Given the description of an element on the screen output the (x, y) to click on. 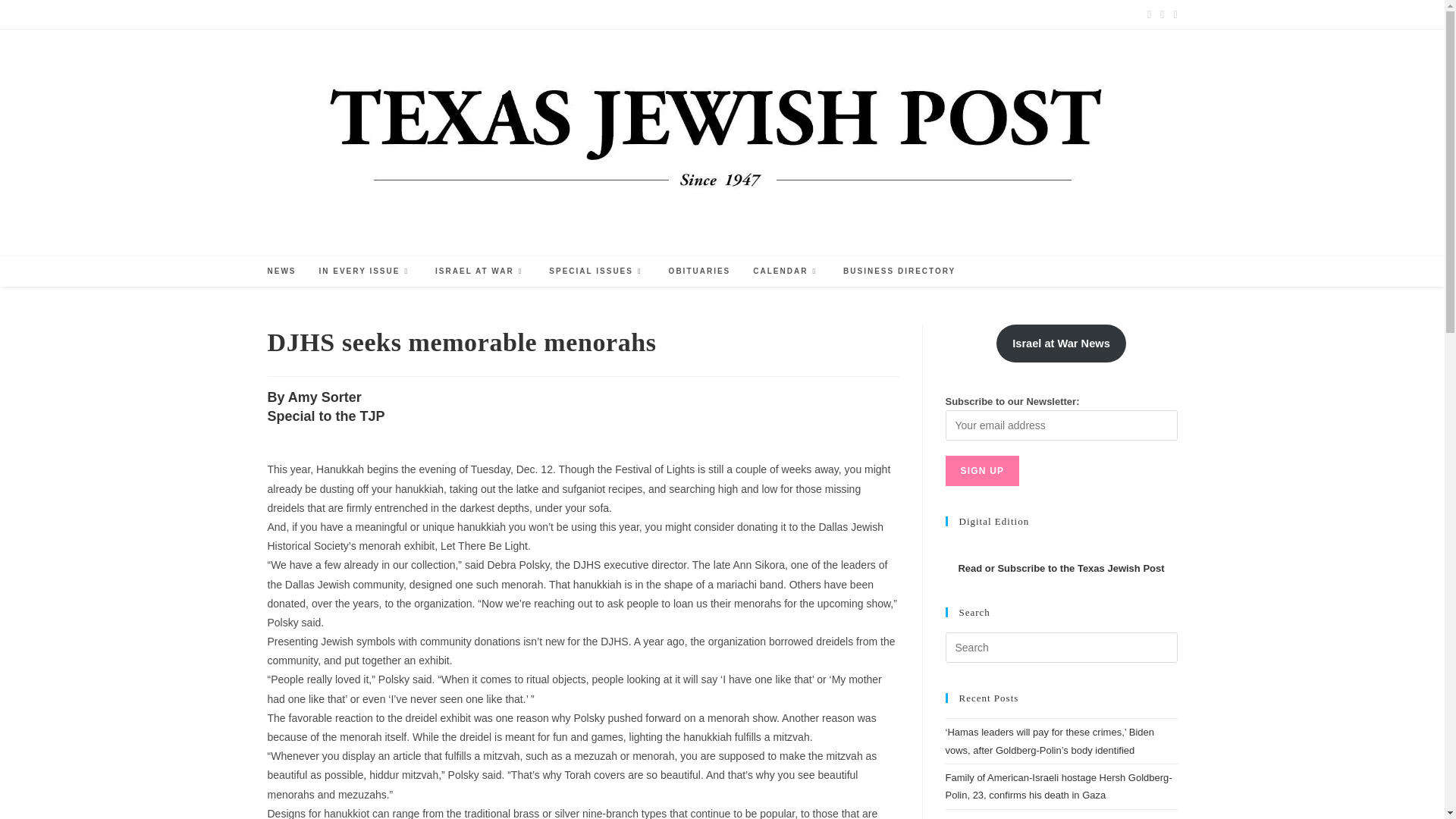
SPECIAL ISSUES (596, 271)
NEWS (281, 271)
Advertise (285, 13)
BUSINESS DIRECTORY (898, 271)
Newsletter (586, 13)
Read or Subscribe to the Texas Jewish Post e-Edition (1060, 568)
Submit Your News (405, 13)
About Us (473, 13)
ISRAEL AT WAR (480, 271)
IN EVERY ISSUE (366, 271)
